Given the description of an element on the screen output the (x, y) to click on. 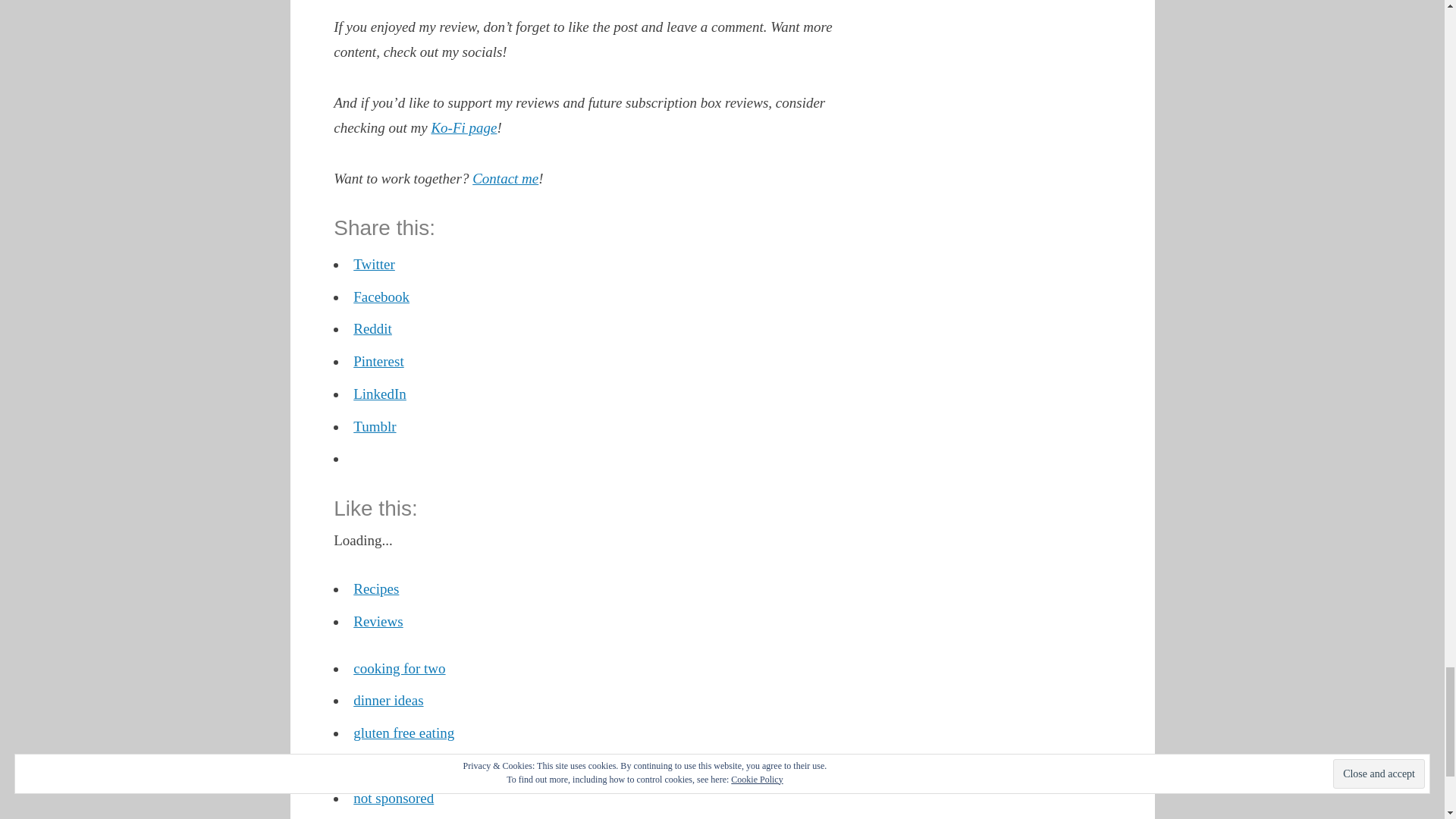
Click to share on Tumblr (374, 426)
Click to share on Pinterest (378, 360)
dinner ideas (388, 700)
Click to share on Twitter (373, 263)
cooking for two (399, 668)
Hungarian recipe review (424, 765)
Contact me (504, 178)
Pinterest (378, 360)
Tumblr (374, 426)
Ko-Fi page (463, 127)
